Given the description of an element on the screen output the (x, y) to click on. 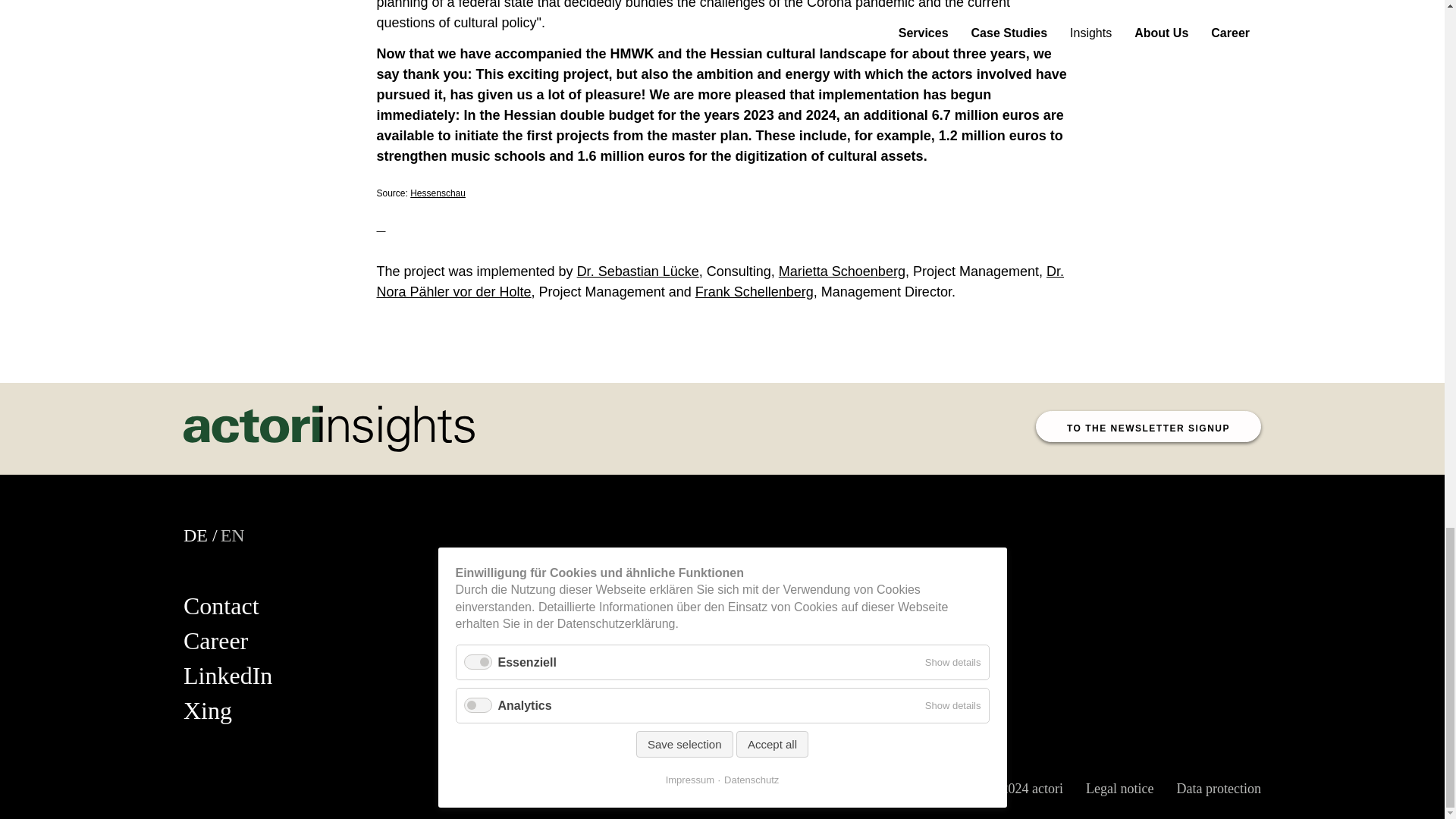
Data protection (1218, 788)
Marietta Schoenberg (841, 271)
LinkedIn (227, 675)
Kontakt (221, 605)
Xing (207, 709)
TO THE NEWSLETTER SIGNUP (1147, 426)
DE (195, 535)
Hessenschau (437, 193)
Career (215, 640)
Insights (195, 535)
Frank Schellenberg (754, 291)
Career (215, 640)
Legal notice (1119, 788)
Legal notice (1119, 788)
